Given the description of an element on the screen output the (x, y) to click on. 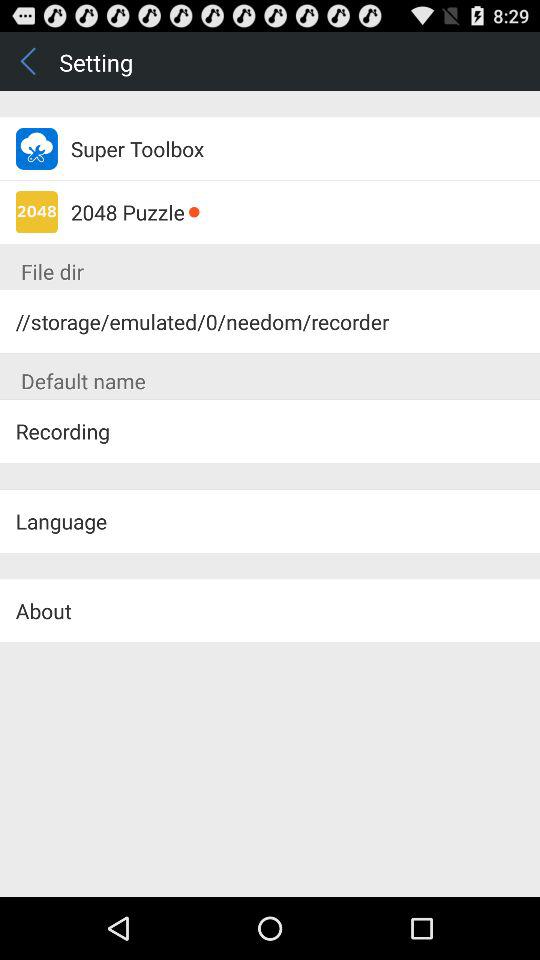
go back (29, 60)
